Given the description of an element on the screen output the (x, y) to click on. 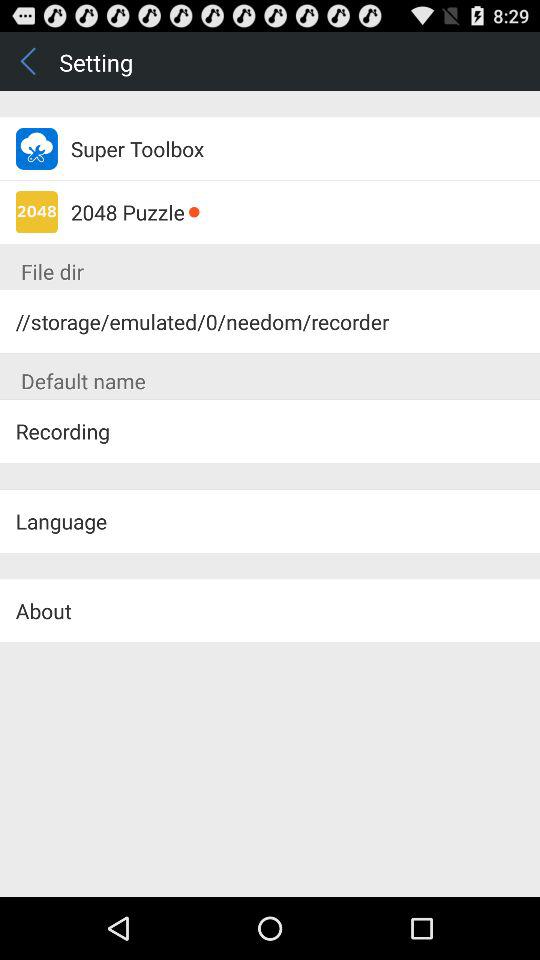
go back (29, 60)
